Given the description of an element on the screen output the (x, y) to click on. 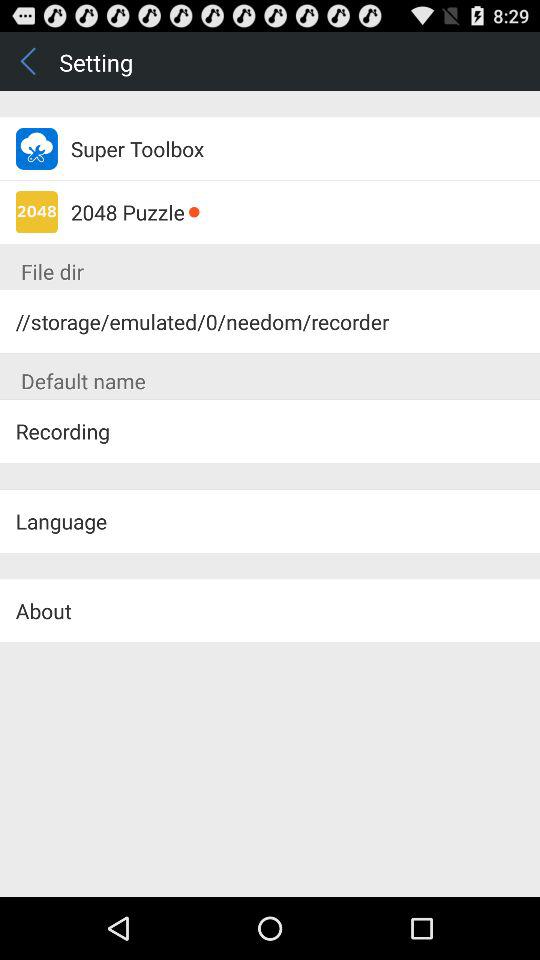
go back (29, 60)
